Given the description of an element on the screen output the (x, y) to click on. 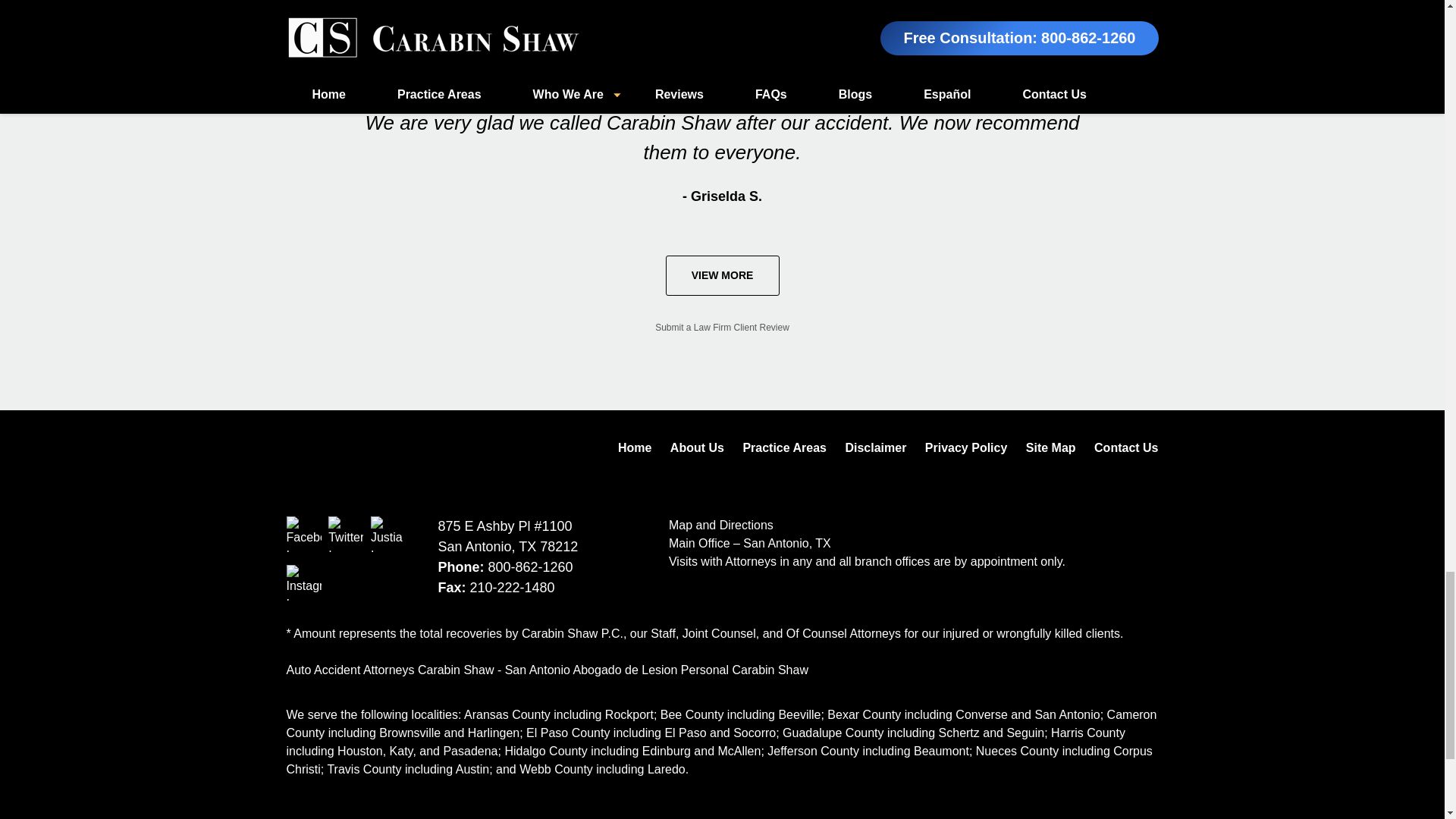
Facebook (303, 533)
Justia (388, 533)
Instagram (303, 582)
Twitter (345, 533)
